Given the description of an element on the screen output the (x, y) to click on. 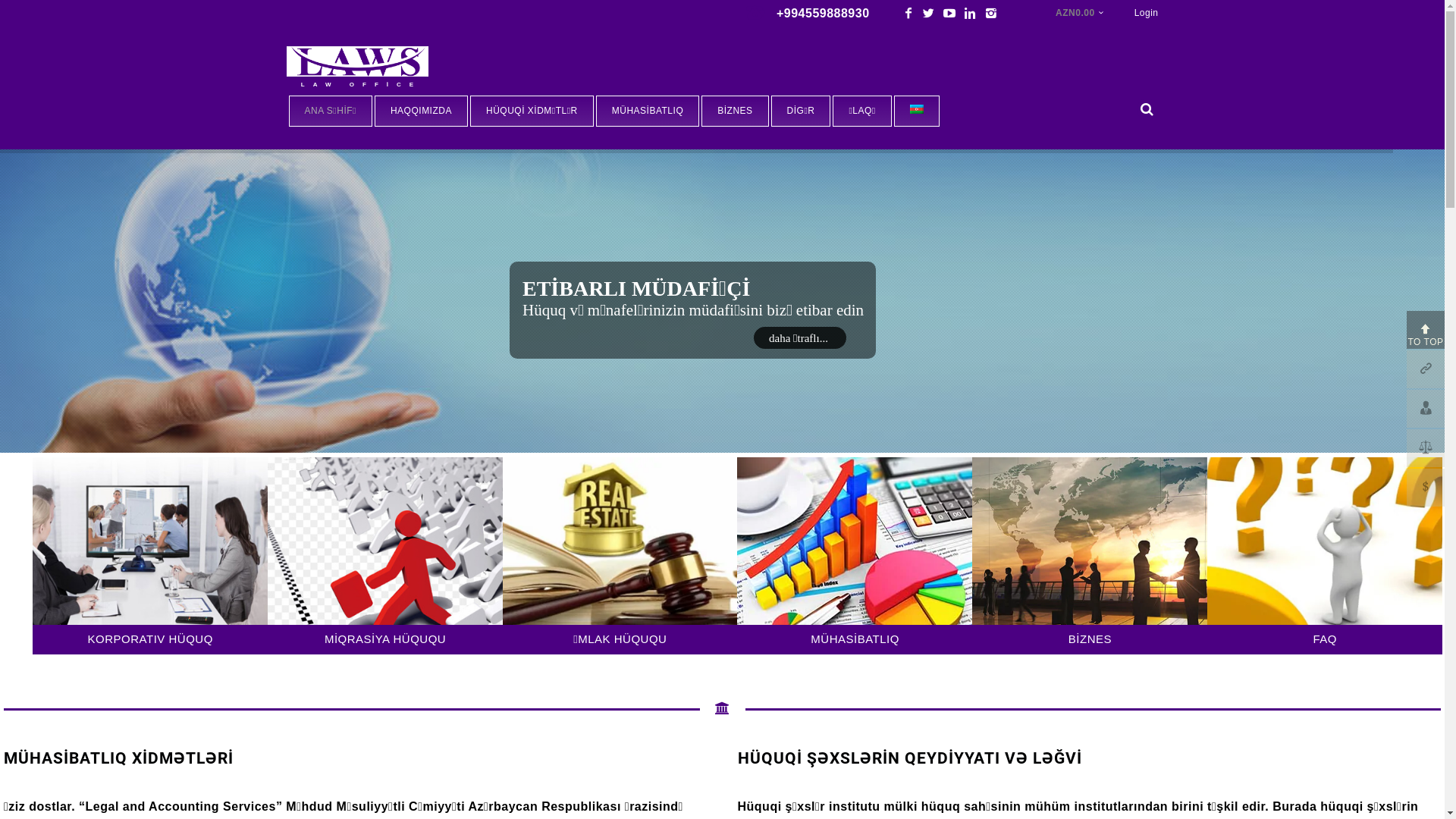
Open/close search form Element type: hover (1146, 108)
HAQQIMIZDA Element type: text (420, 110)
TO TOP Element type: text (1425, 329)
+994559888930 Element type: text (822, 13)
Login Element type: text (1146, 13)
BIZNES Element type: text (734, 110)
LAW OFFICE Element type: text (361, 69)
Cart AZN0.00 Element type: text (1080, 13)
